Given the description of an element on the screen output the (x, y) to click on. 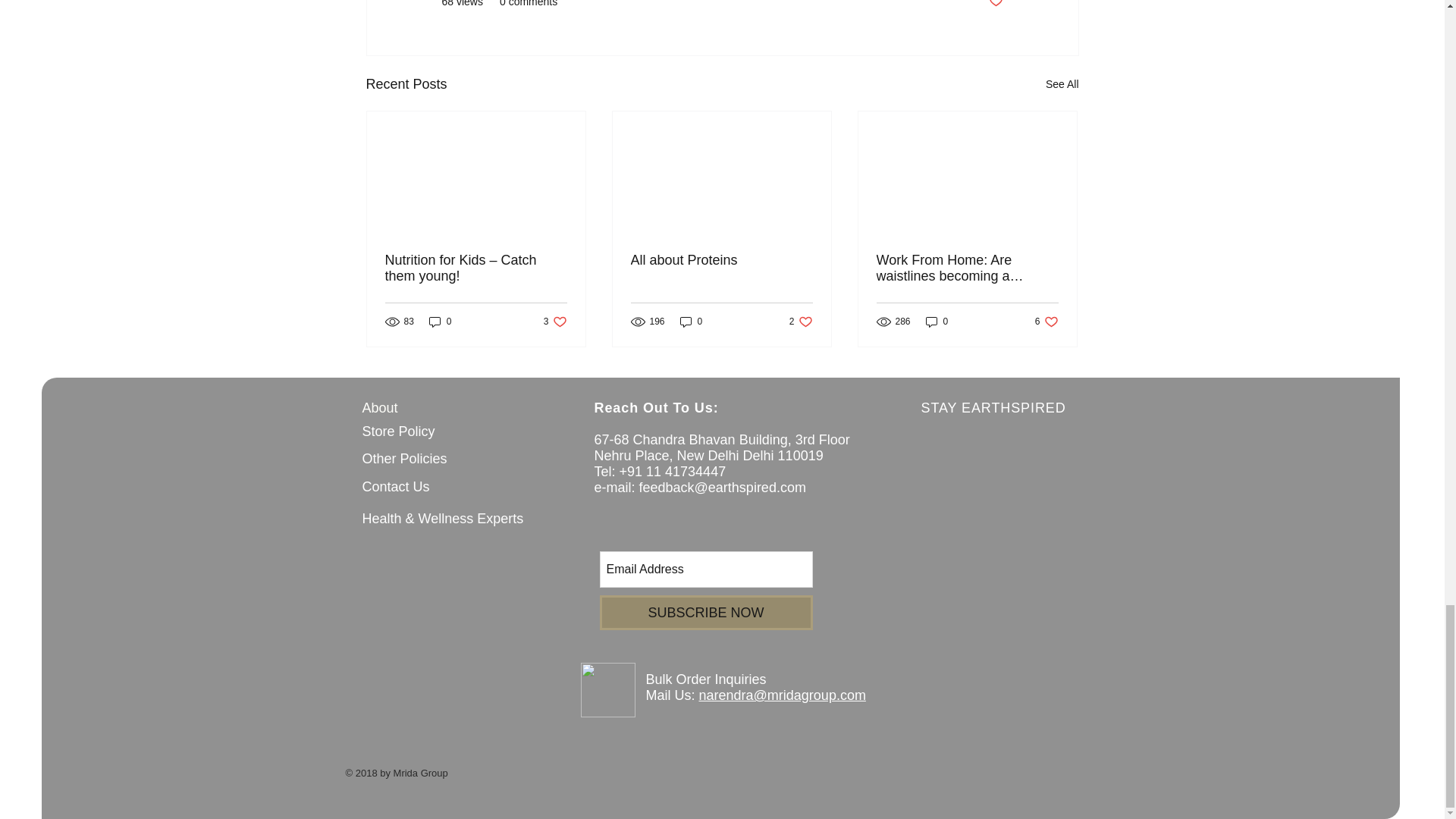
Post not marked as liked (995, 4)
All about Proteins (721, 260)
See All (1061, 84)
0 (440, 321)
